Given the description of an element on the screen output the (x, y) to click on. 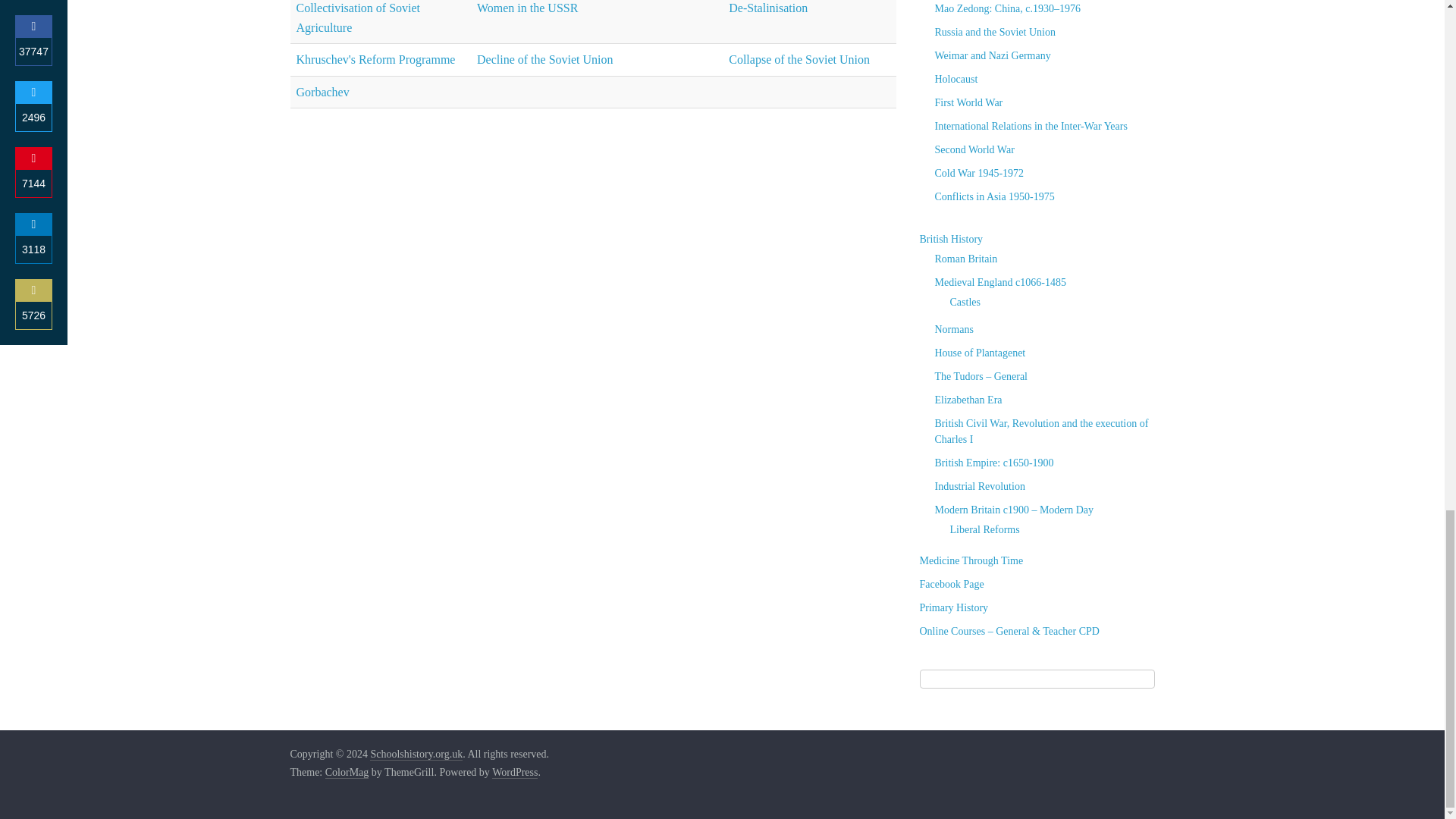
Schoolshistory.org.uk (416, 754)
WordPress (514, 772)
ColorMag (346, 772)
